Given the description of an element on the screen output the (x, y) to click on. 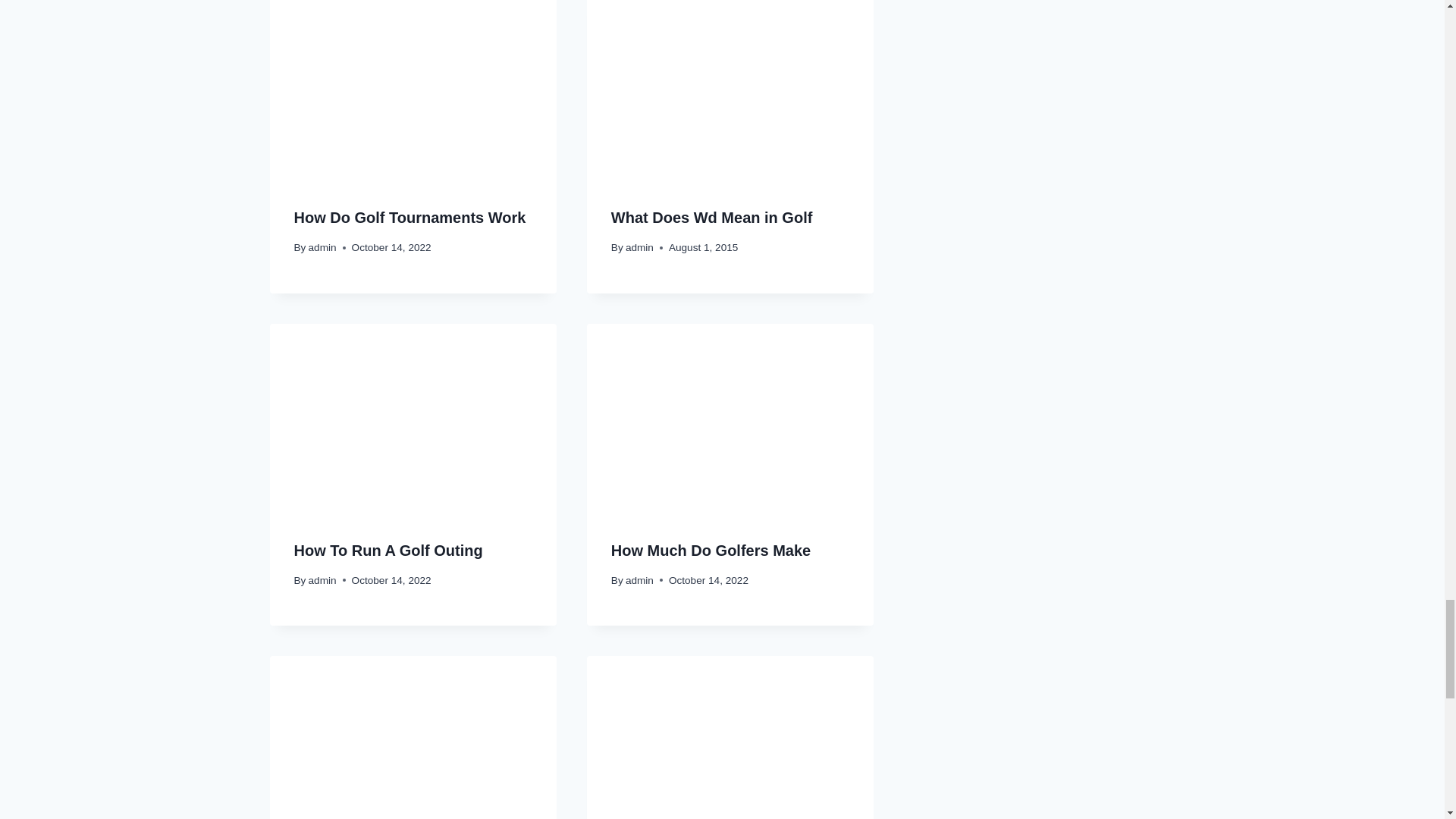
admin (639, 247)
admin (322, 580)
admin (322, 247)
admin (639, 580)
How To Run A Golf Outing (388, 550)
What Does Wd Mean in Golf (711, 217)
How Much Do Golfers Make (710, 550)
How Do Golf Tournaments Work (409, 217)
